Given the description of an element on the screen output the (x, y) to click on. 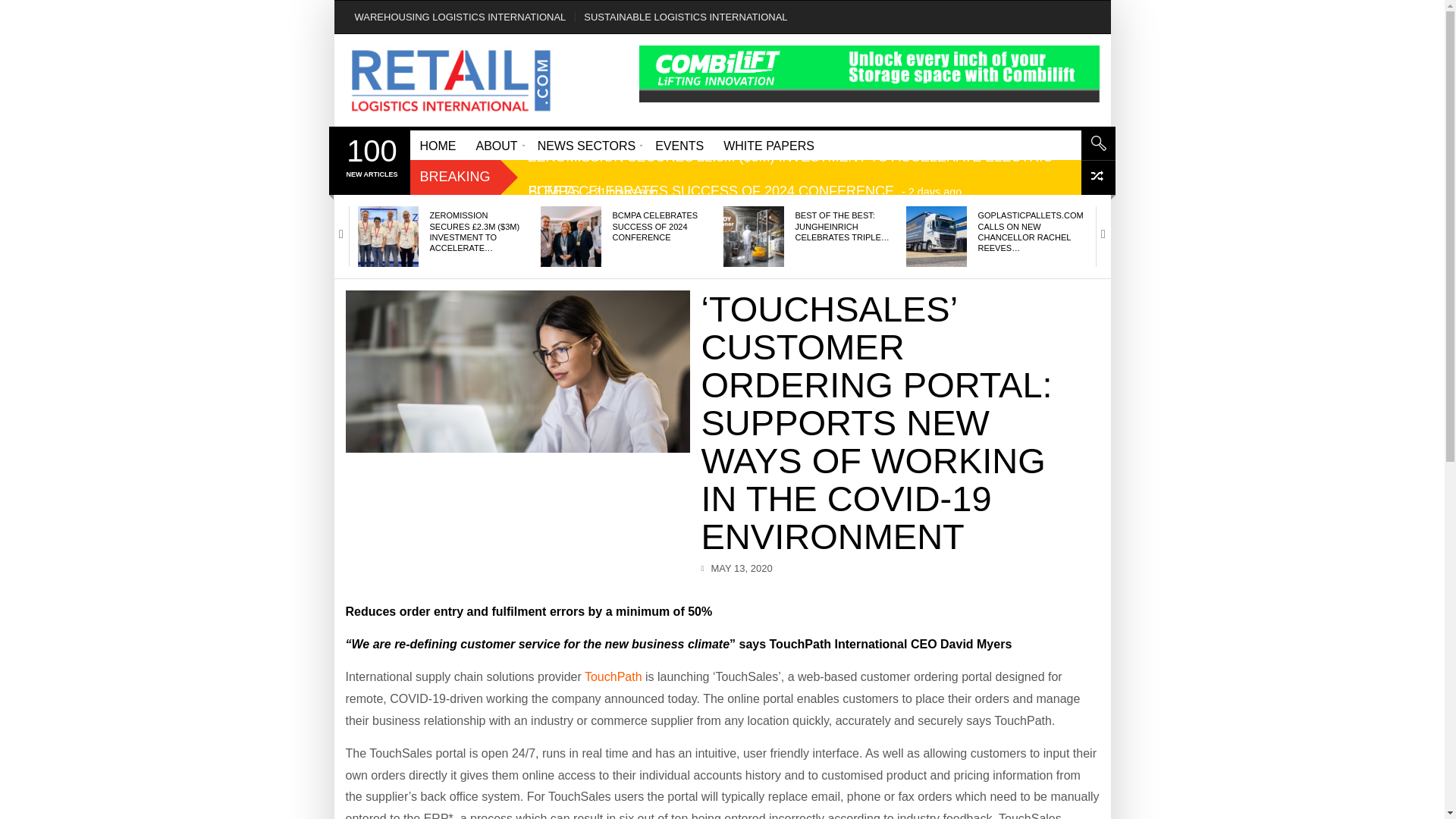
HOME (437, 144)
BCMPA CELEBRATES SUCCESS OF 2024 CONFERENCE - 2 days ago (750, 191)
Retail Logistics International (451, 80)
ABOUT (496, 144)
NEWS SECTORS (586, 144)
WHITE PAPERS (768, 144)
EVENTS (679, 144)
WAREHOUSING LOGISTICS INTERNATIONAL (460, 16)
BREAKING (455, 176)
SUSTAINABLE LOGISTICS INTERNATIONAL (685, 16)
